Given the description of an element on the screen output the (x, y) to click on. 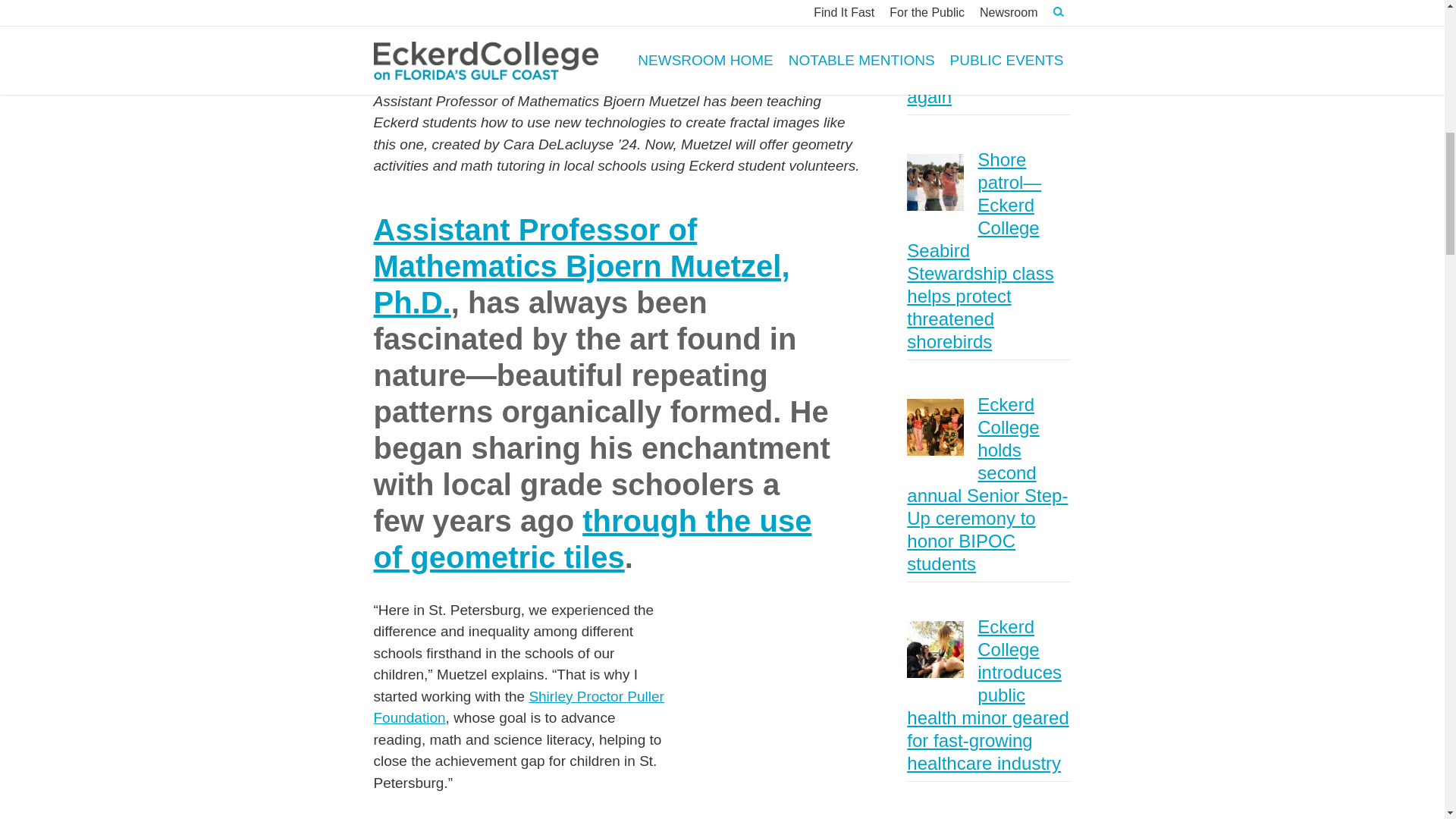
through the use of geometric tiles (591, 539)
Shirley Proctor Puller Foundation (517, 707)
Assistant Professor of Mathematics Bjoern Muetzel, Ph.D. (580, 265)
